Given the description of an element on the screen output the (x, y) to click on. 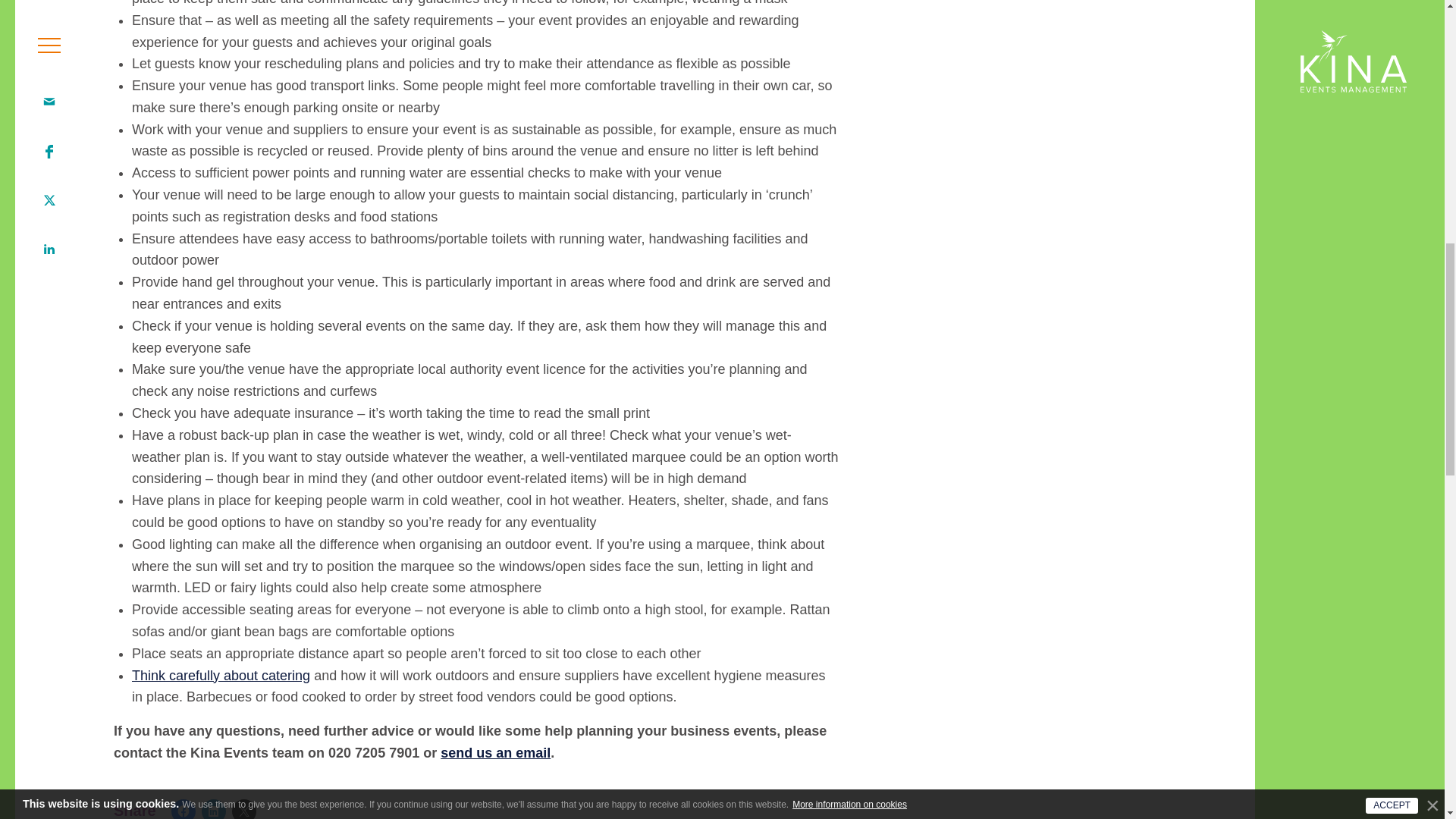
Click to share on X (243, 809)
Click to share on Facebook (183, 809)
send us an email (495, 752)
Think carefully about catering (221, 675)
Click to share on LinkedIn (213, 809)
